Given the description of an element on the screen output the (x, y) to click on. 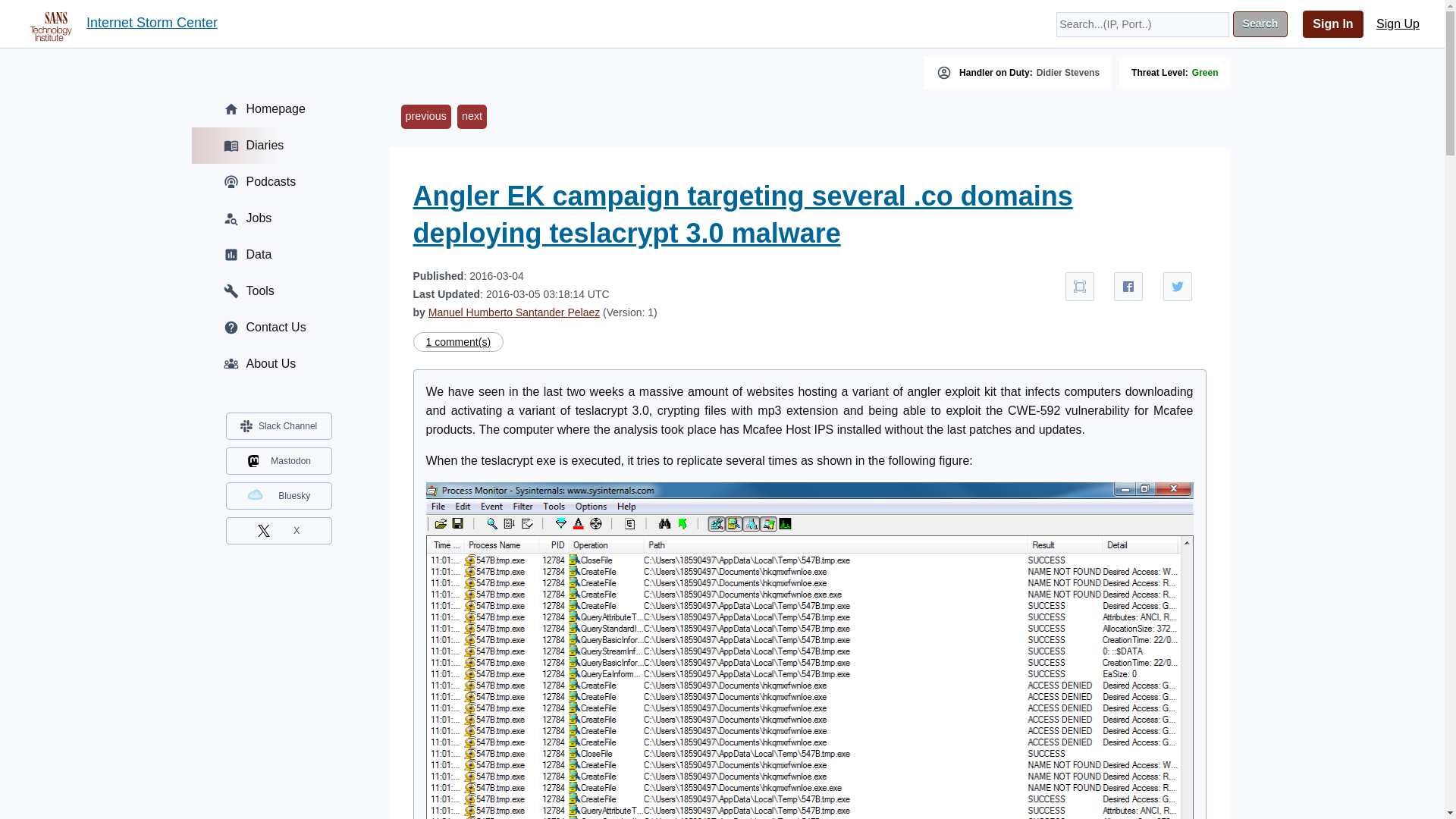
next (471, 116)
Podcasts (277, 181)
Share on Facebook (1127, 286)
Didier Stevens (1067, 72)
Internet Storm Center (150, 23)
Green (1205, 72)
previous (424, 116)
Data (277, 254)
Sign Up (1398, 24)
Homepage (277, 108)
Diaries (277, 145)
Didier Stevens (1067, 72)
Jobs (277, 217)
Share on Twitter (1177, 286)
